Given the description of an element on the screen output the (x, y) to click on. 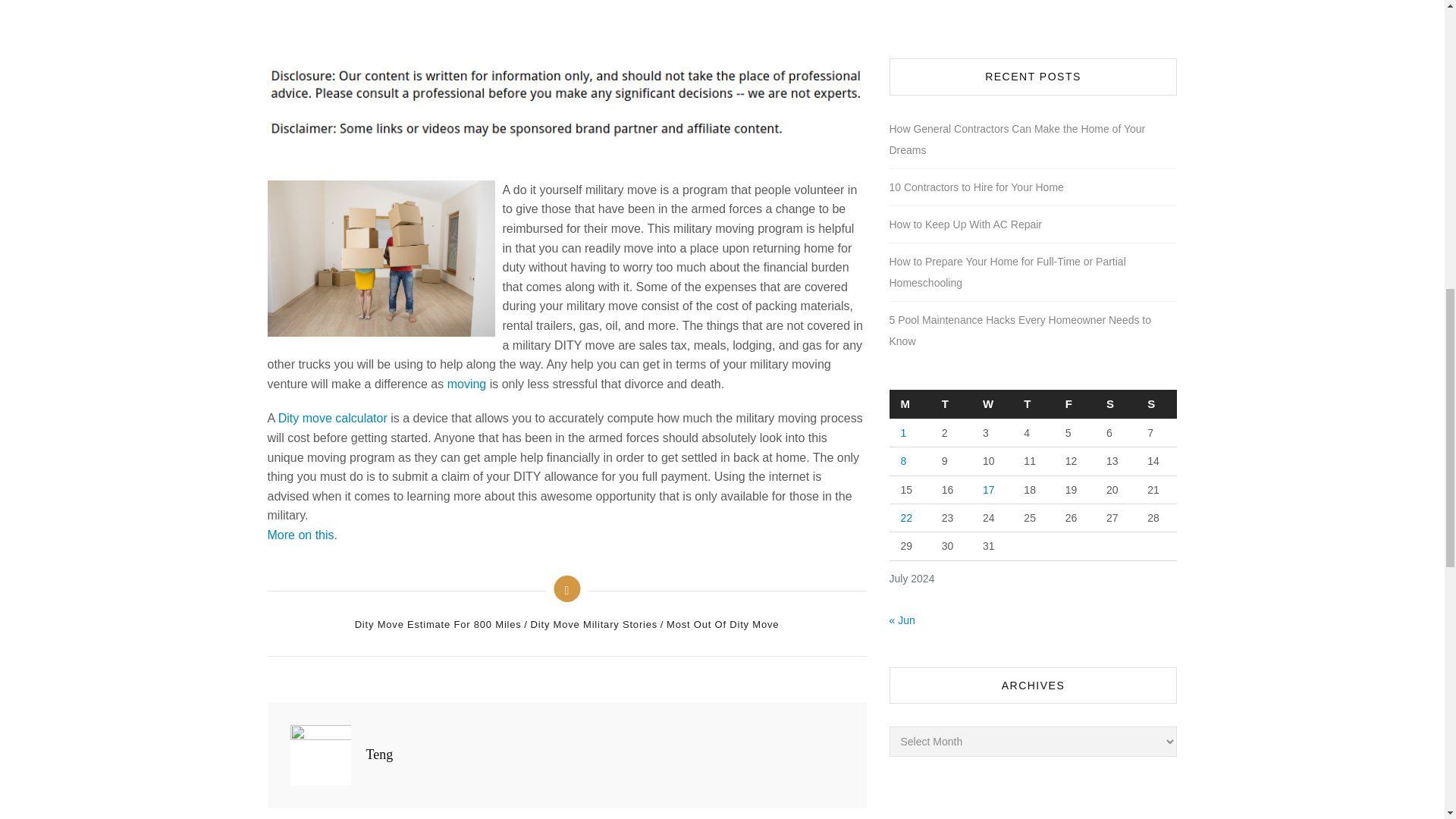
See here (301, 534)
5 Pool Maintenance Hacks Every Homeowner Needs to Know (1032, 330)
Wednesday (991, 404)
Tuesday (950, 404)
Dity Move Estimate For 800 Miles (440, 625)
More on this. (301, 534)
Sunday (1155, 404)
Thursday (1031, 404)
Friday (1074, 404)
moving (466, 383)
Monday (909, 404)
10 Contractors to Hire for Your Home (975, 187)
22 (906, 517)
More to see (332, 418)
